Given the description of an element on the screen output the (x, y) to click on. 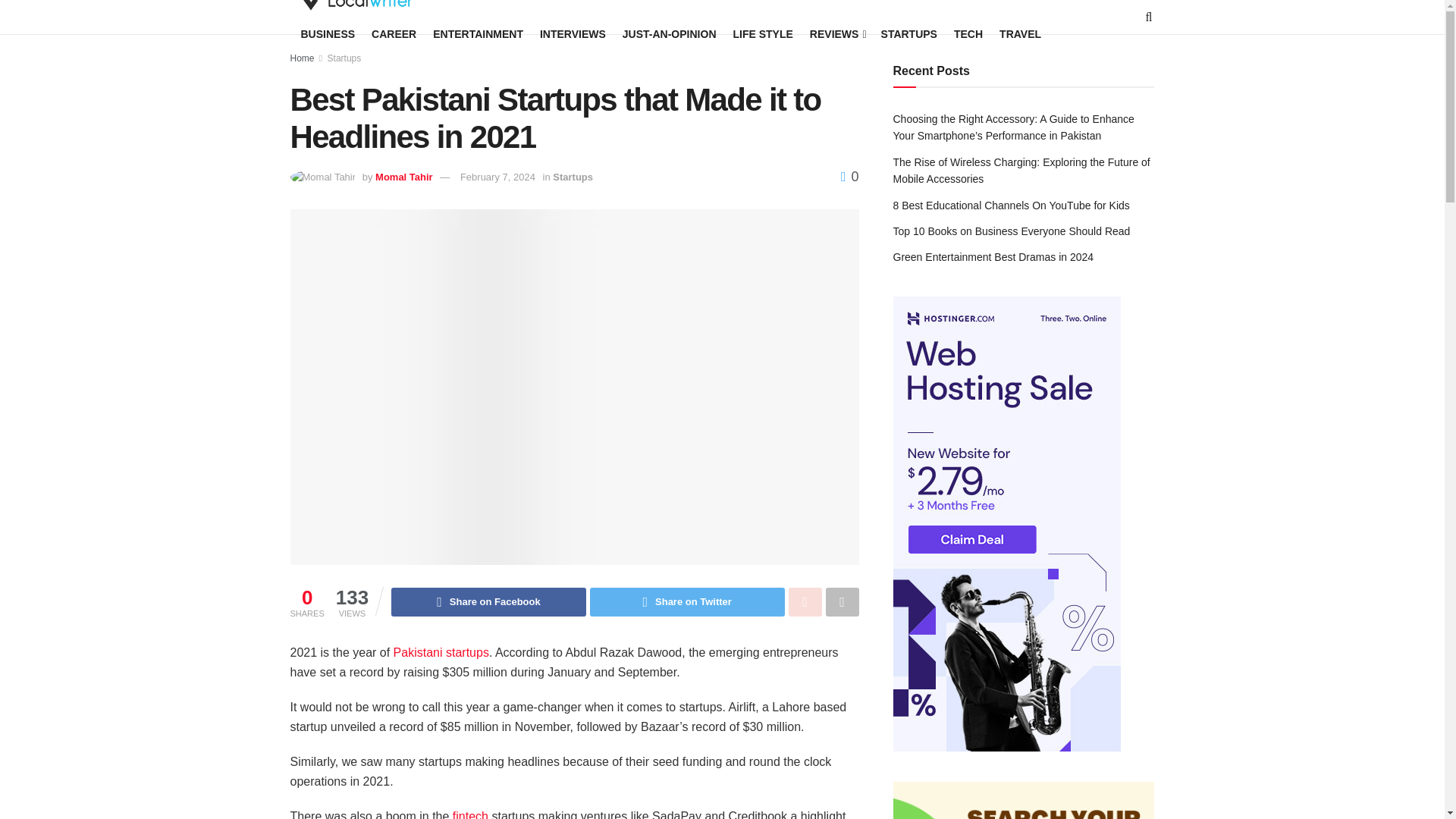
INTERVIEWS (572, 34)
TRAVEL (1019, 34)
BUSINESS (327, 34)
Home (301, 58)
CAREER (393, 34)
REVIEWS (836, 34)
Momal Tahir (403, 176)
STARTUPS (908, 34)
ENTERTAINMENT (477, 34)
JUST-AN-OPINION (669, 34)
TECH (967, 34)
LIFE STYLE (762, 34)
Startups (344, 58)
